Given the description of an element on the screen output the (x, y) to click on. 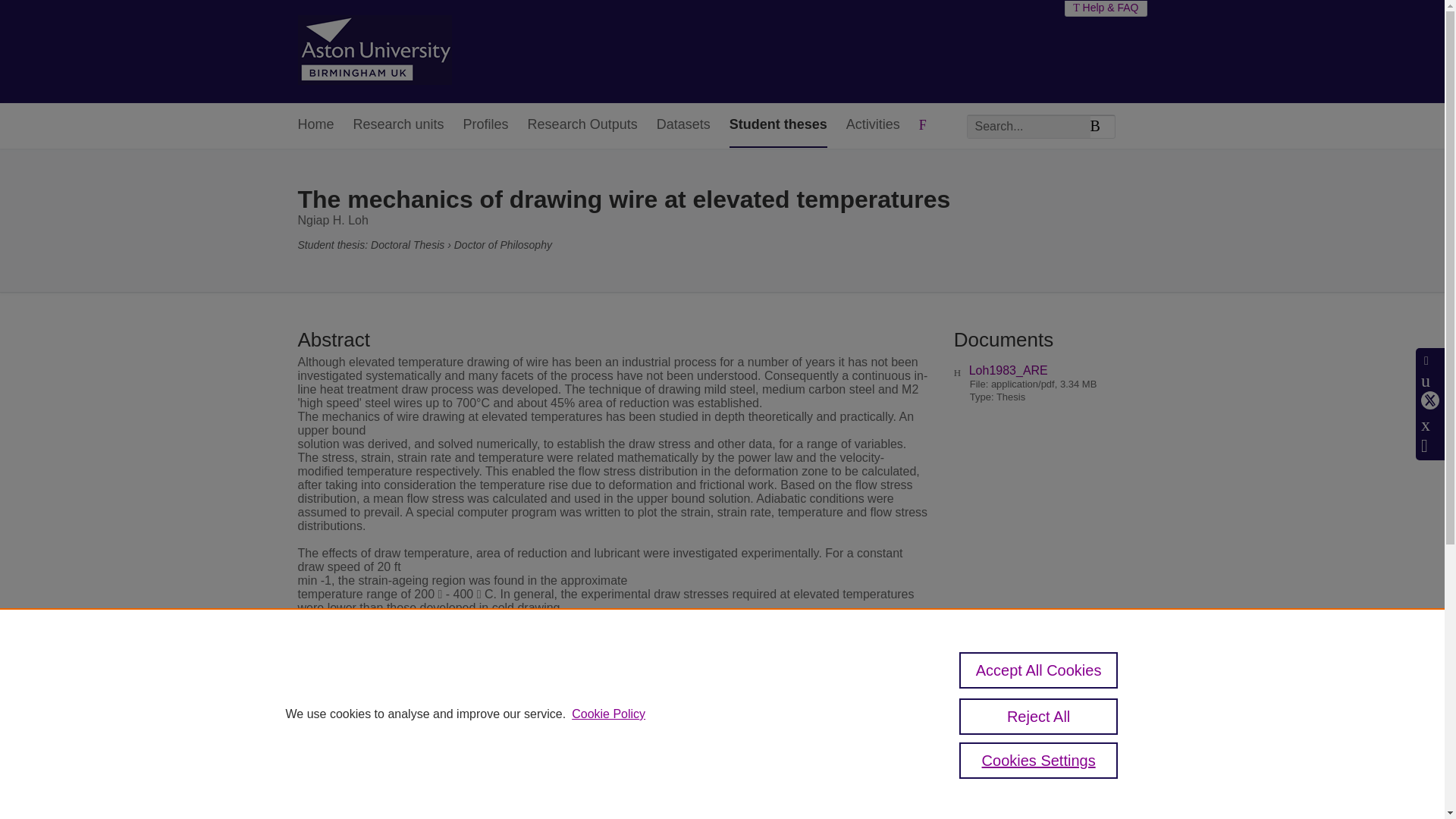
Reject All (1038, 716)
Profiles (485, 125)
Datasets (683, 125)
Accept All Cookies (1038, 669)
Student theses (778, 125)
Research units (398, 125)
Research Outputs (582, 125)
Aston Research Explorer Home (374, 51)
Cookie Policy (608, 713)
